Given the description of an element on the screen output the (x, y) to click on. 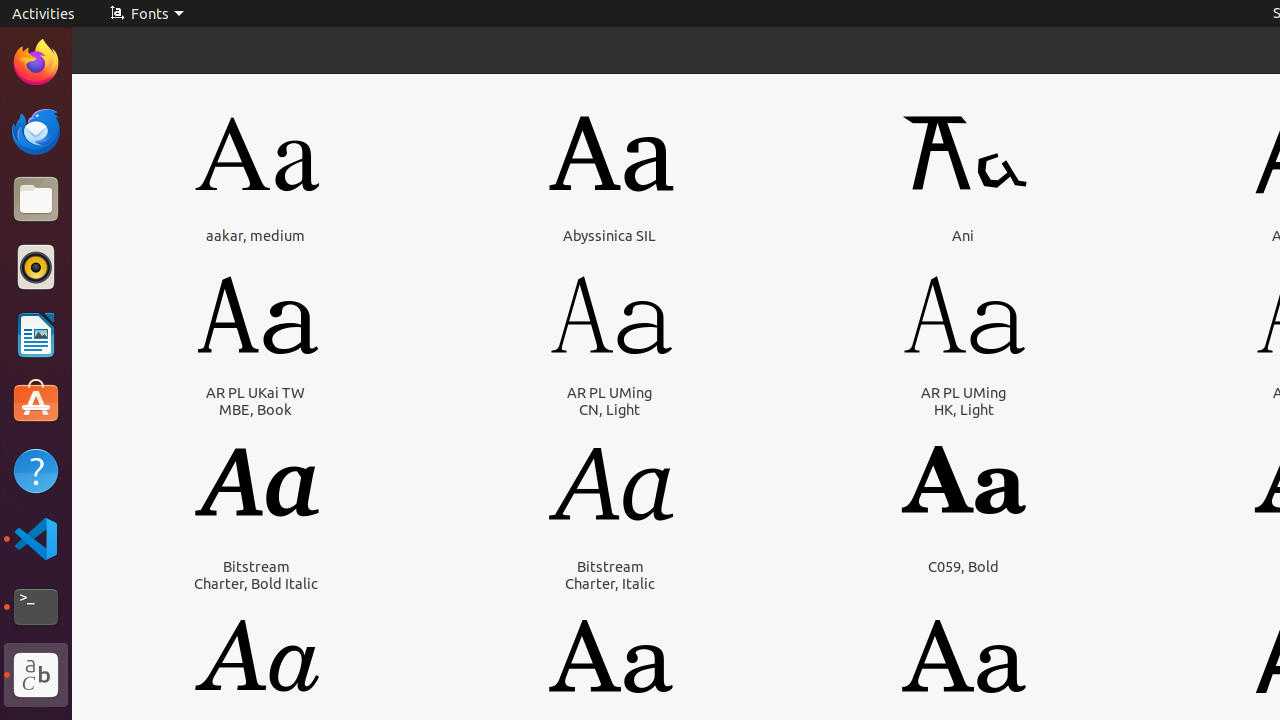
Bitstream Charter, Bold Italic Element type: label (256, 575)
Terminal Element type: push-button (36, 607)
Bitstream Charter, Italic Element type: label (610, 575)
